Given the description of an element on the screen output the (x, y) to click on. 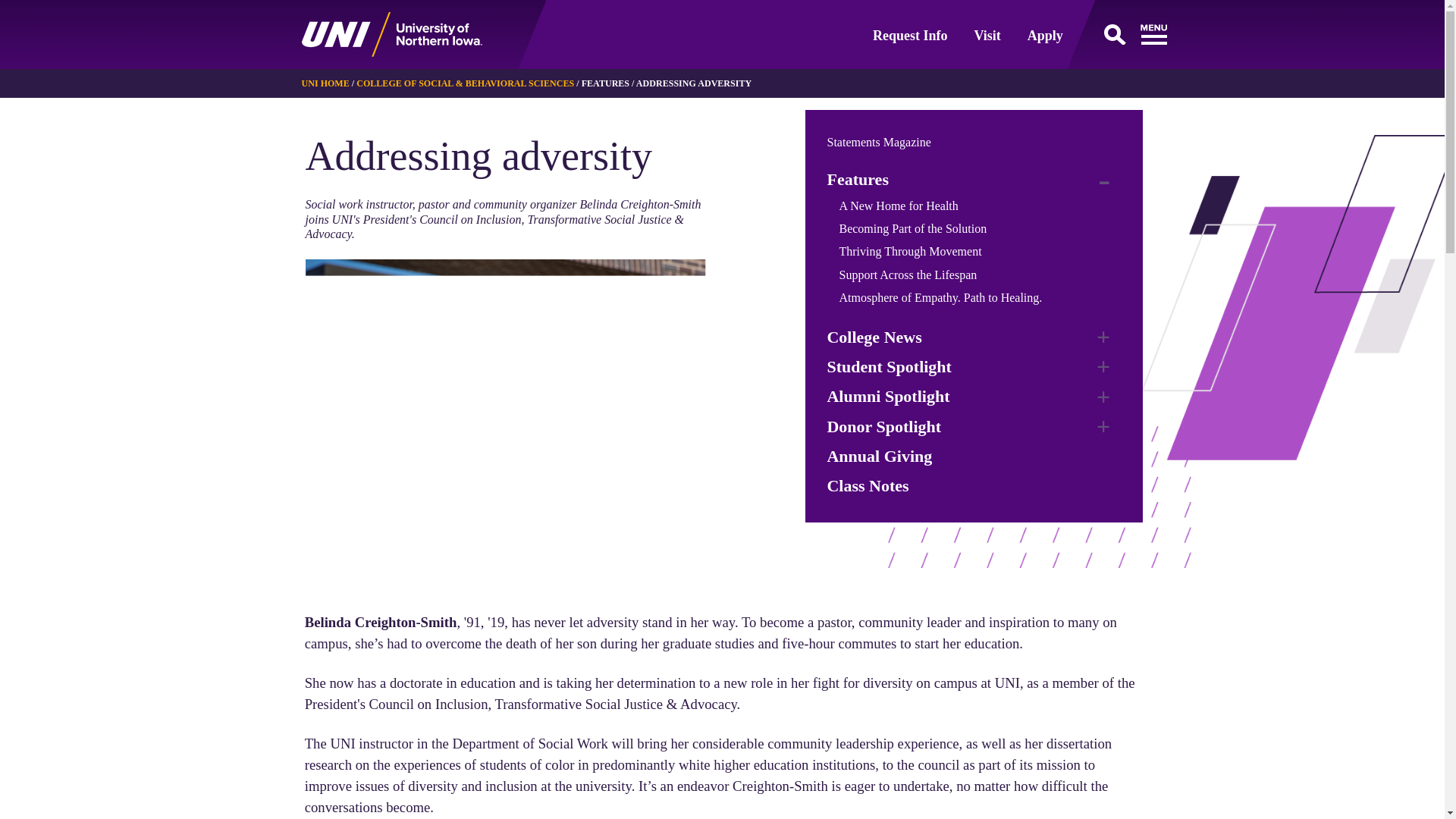
Apply (1045, 35)
Request Info (909, 35)
Visit (986, 35)
